Given the description of an element on the screen output the (x, y) to click on. 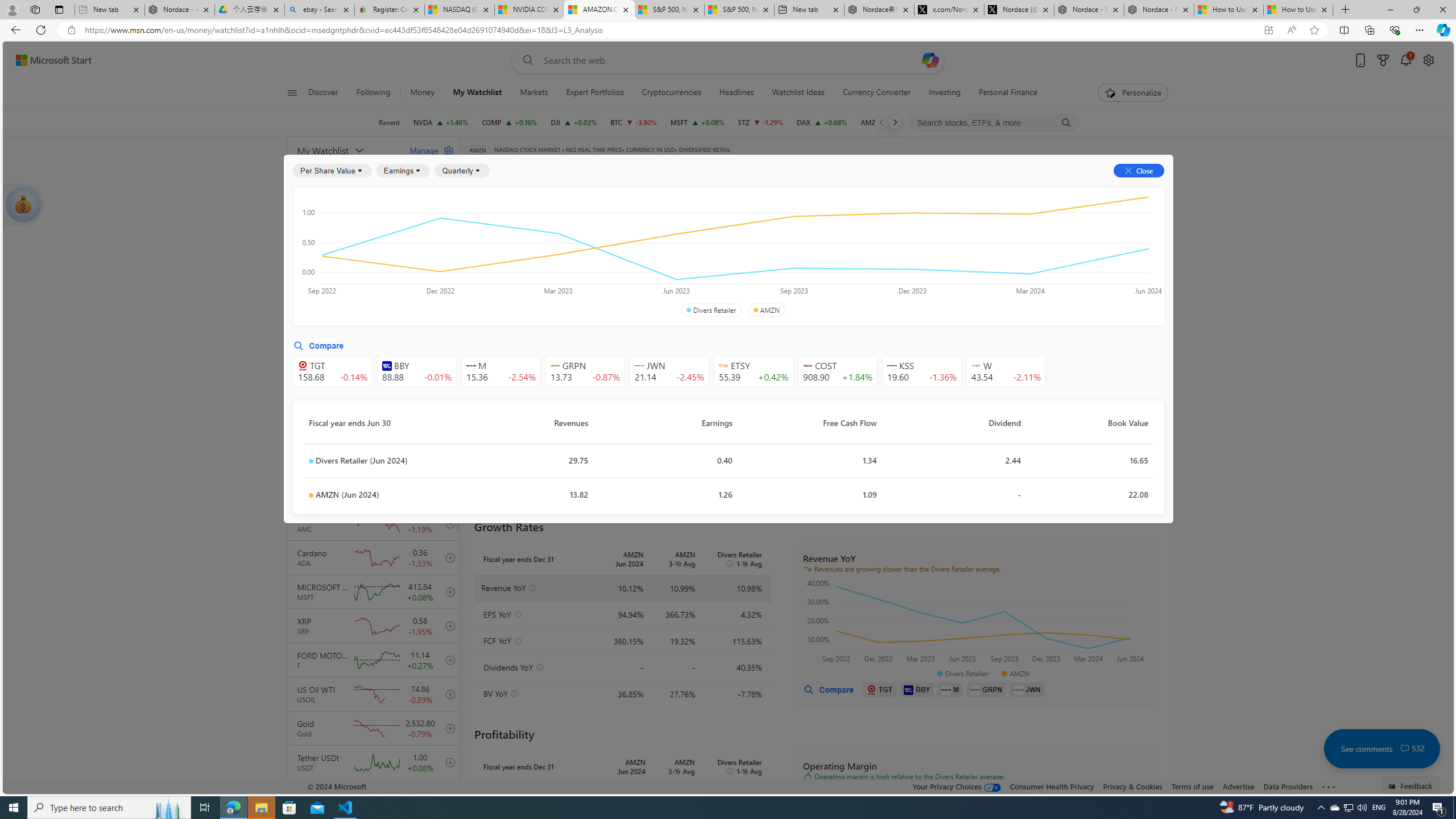
Cash Flow (663, 223)
Currency Converter (877, 92)
Markets (533, 92)
Personal Finance (1003, 92)
Markets (534, 92)
Earnings (402, 170)
Headlines (736, 92)
